Given the description of an element on the screen output the (x, y) to click on. 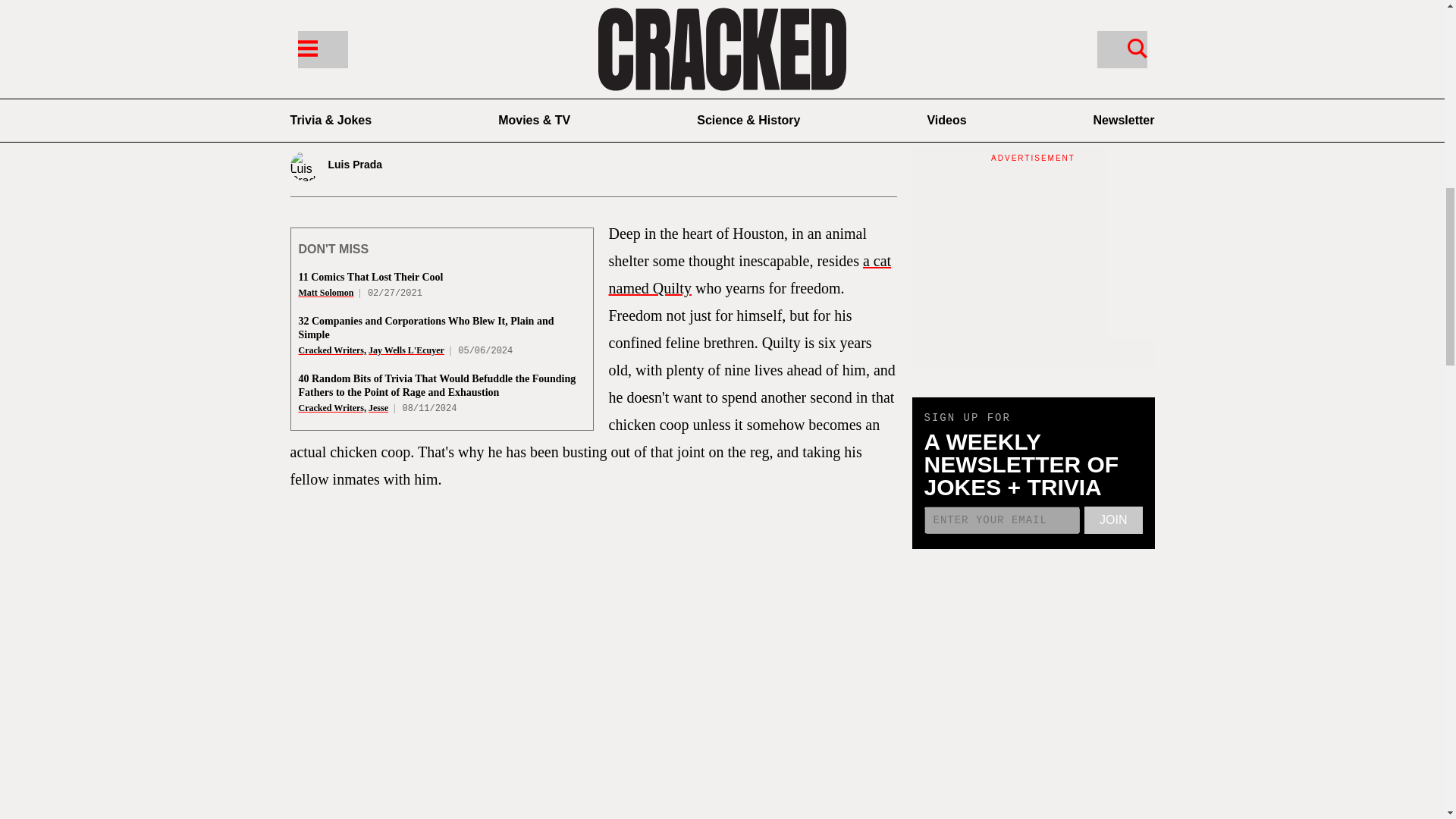
Cracked Writers, (332, 349)
32 Companies and Corporations Who Blew It, Plain and Simple (426, 327)
Luis Prada (387, 165)
Jay Wells L'Ecuyer (406, 349)
11 Comics That Lost Their Cool (371, 276)
Matt Solomon (325, 292)
